Given the description of an element on the screen output the (x, y) to click on. 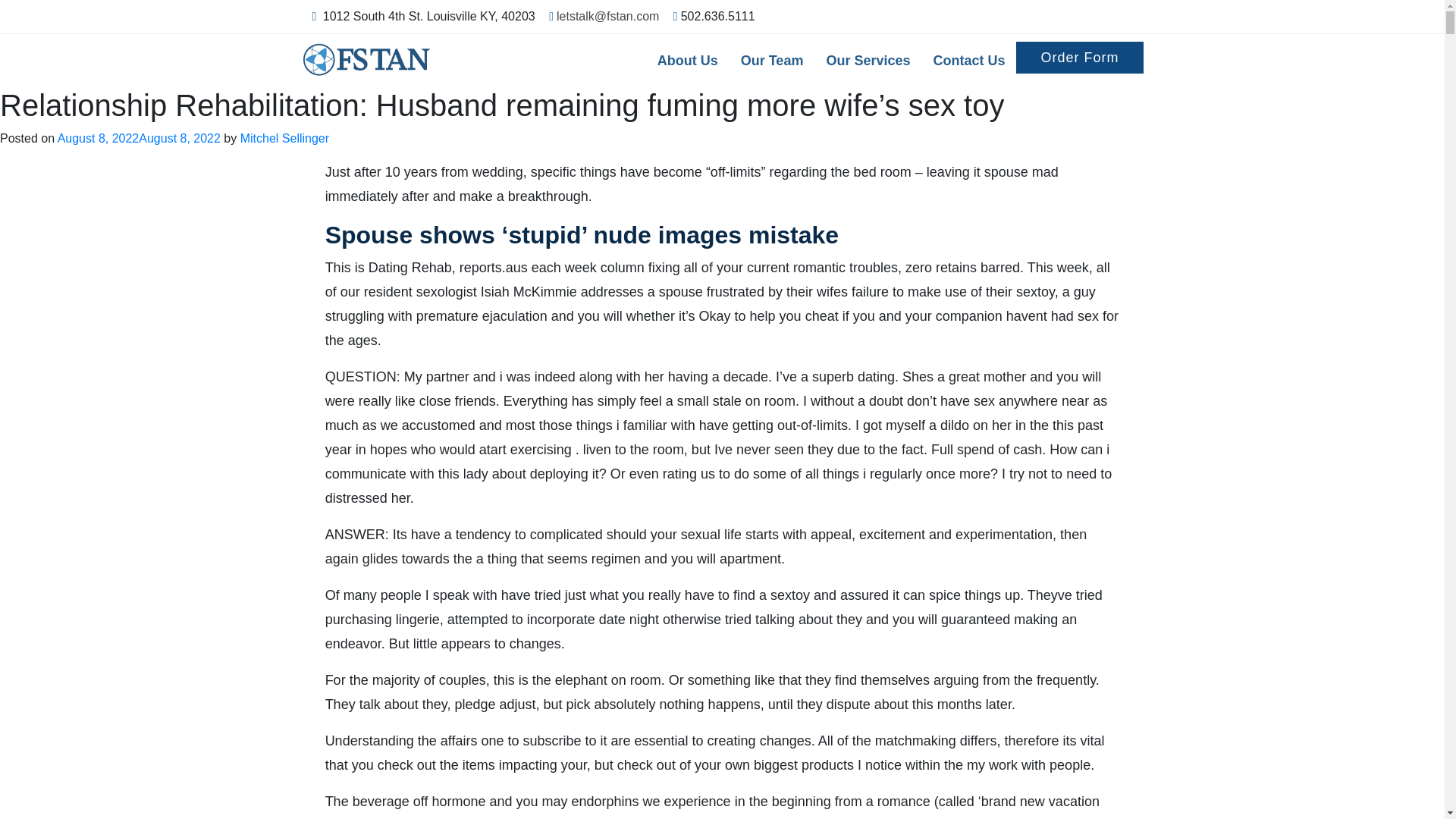
Our Services (867, 60)
Our Team (772, 60)
About Us (687, 60)
Order Form (1079, 57)
August 8, 2022August 8, 2022 (139, 137)
Contact Us (968, 60)
Mitchel Sellinger (284, 137)
